Given the description of an element on the screen output the (x, y) to click on. 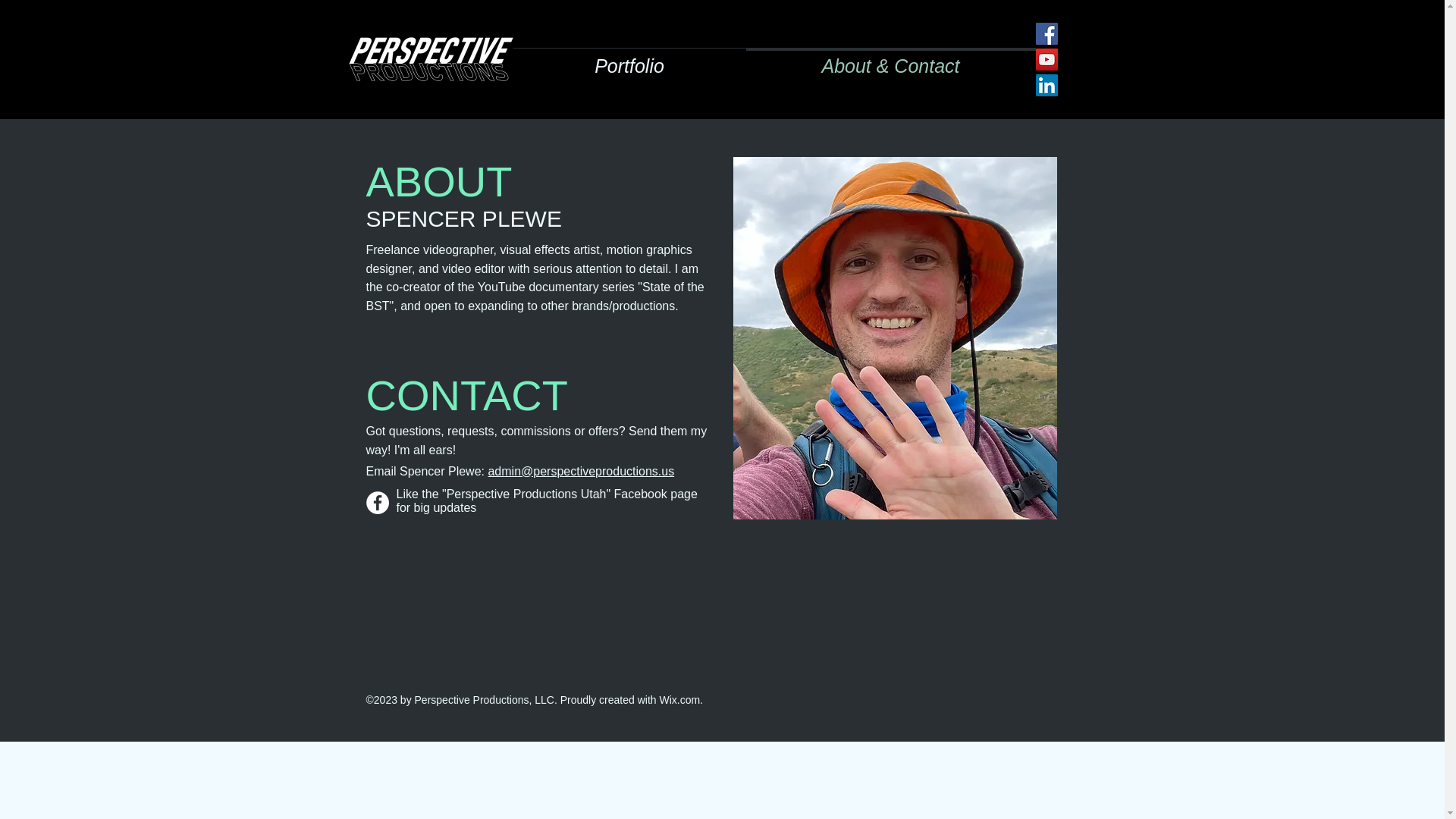
Portfolio (628, 58)
